Given the description of an element on the screen output the (x, y) to click on. 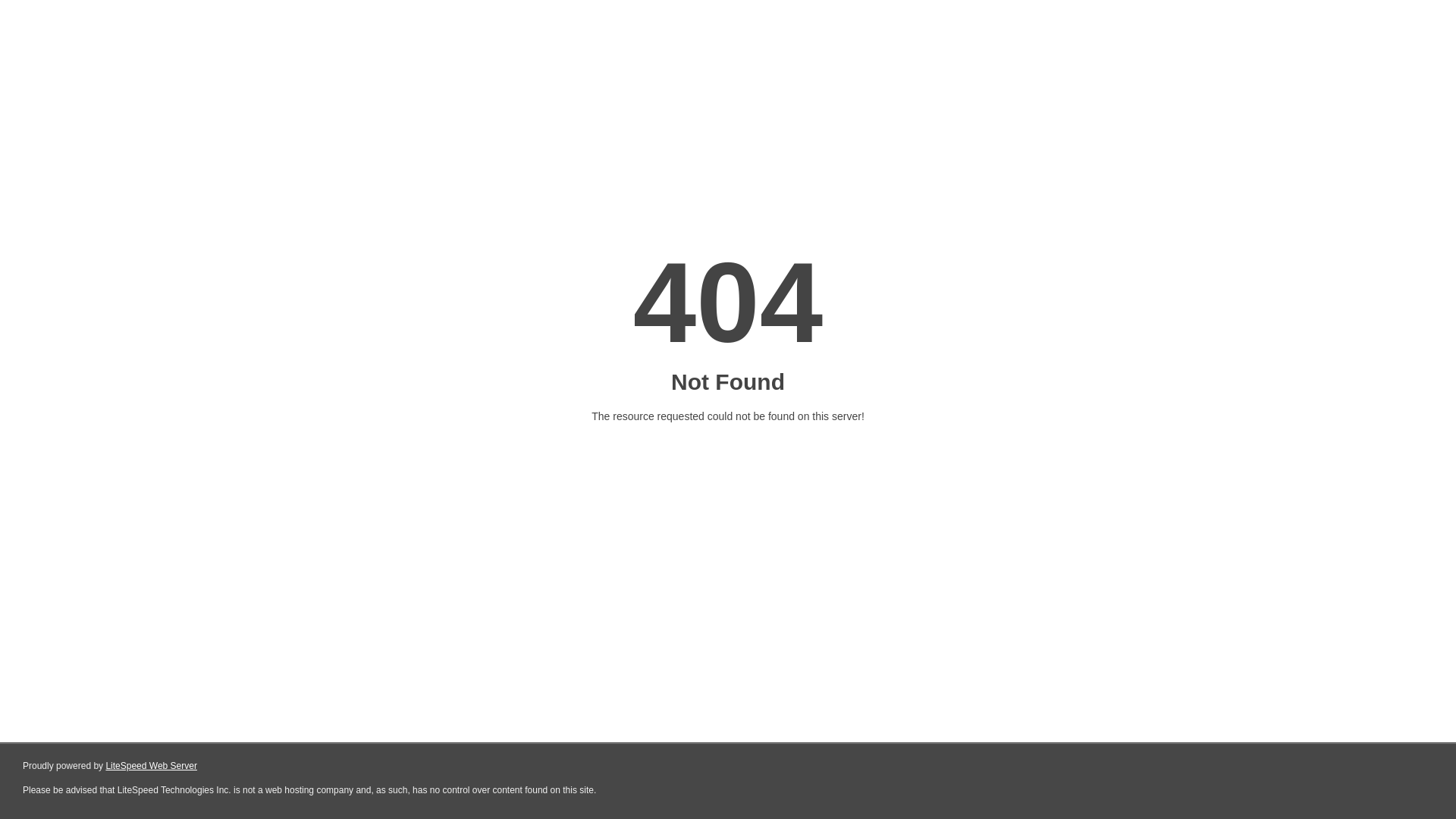
LiteSpeed Web Server Element type: text (151, 765)
